Given the description of an element on the screen output the (x, y) to click on. 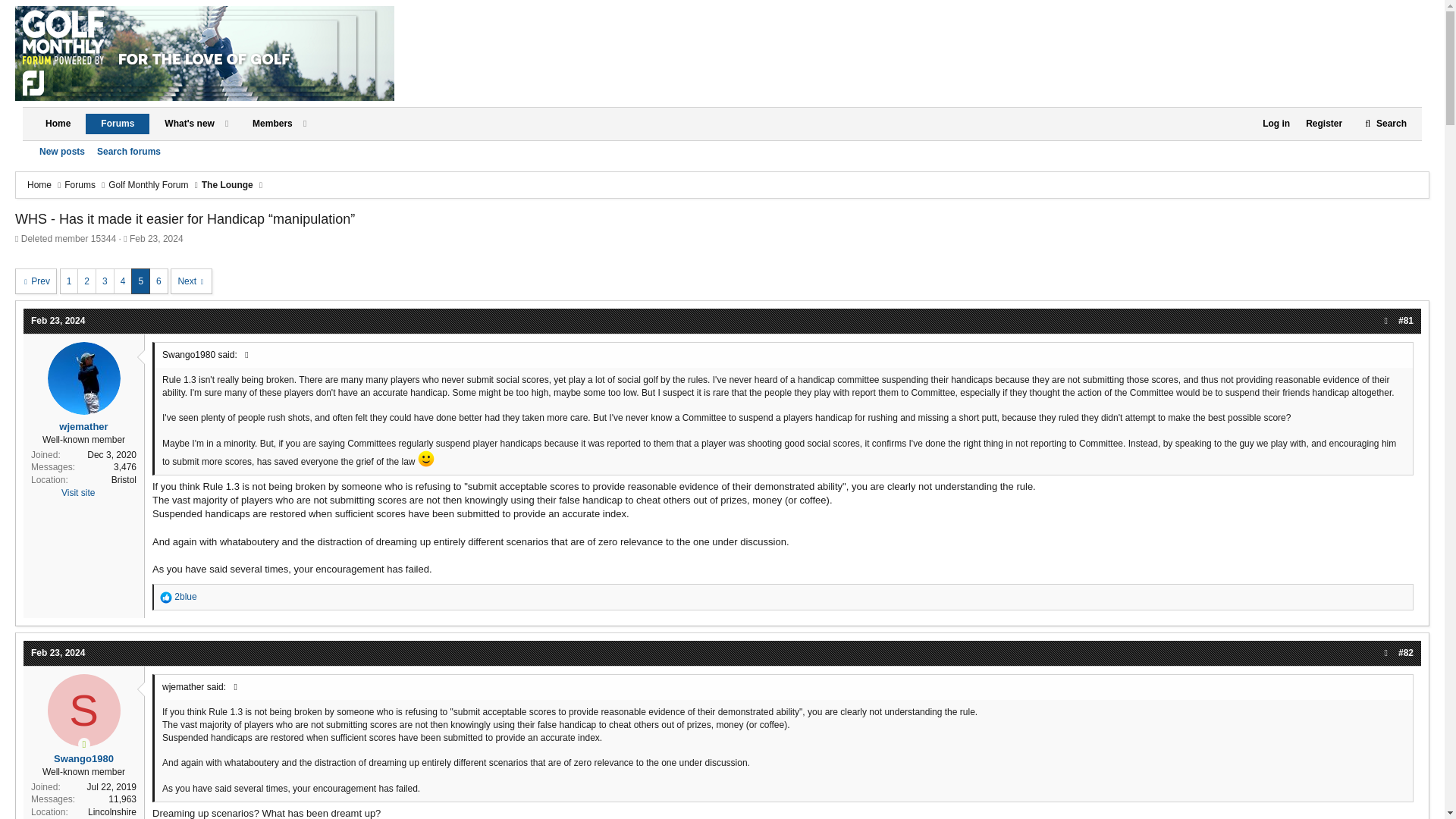
Forums (80, 184)
Register (173, 140)
Like (1323, 123)
Feb 23, 2024 at 3:47 PM (165, 597)
The Lounge (57, 320)
Forums (227, 184)
Prev (117, 123)
Feb 23, 2024 at 4:14 PM (35, 281)
Members (57, 652)
